Given the description of an element on the screen output the (x, y) to click on. 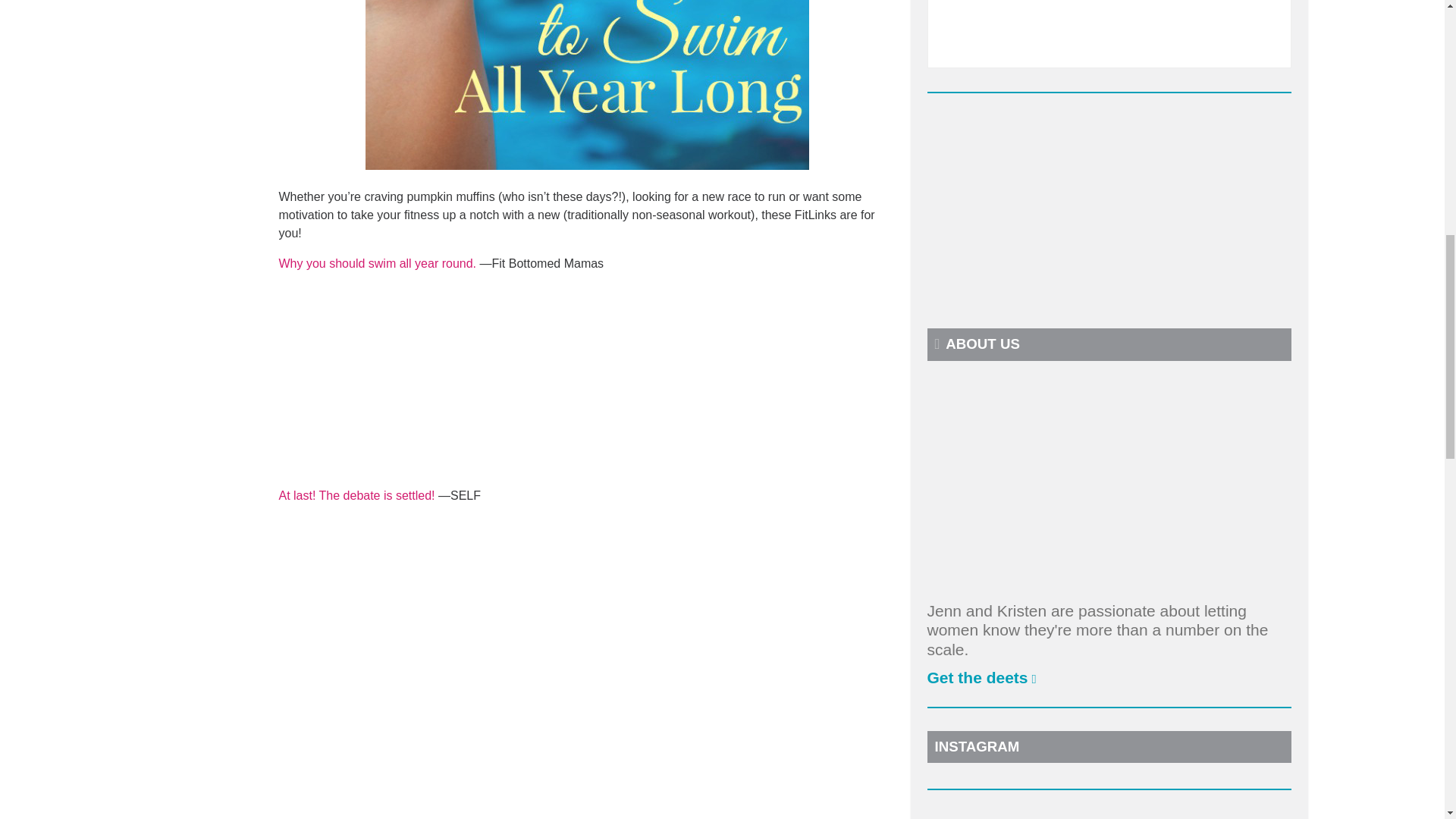
do cardio first (357, 495)
reasons to swim (378, 263)
